Given the description of an element on the screen output the (x, y) to click on. 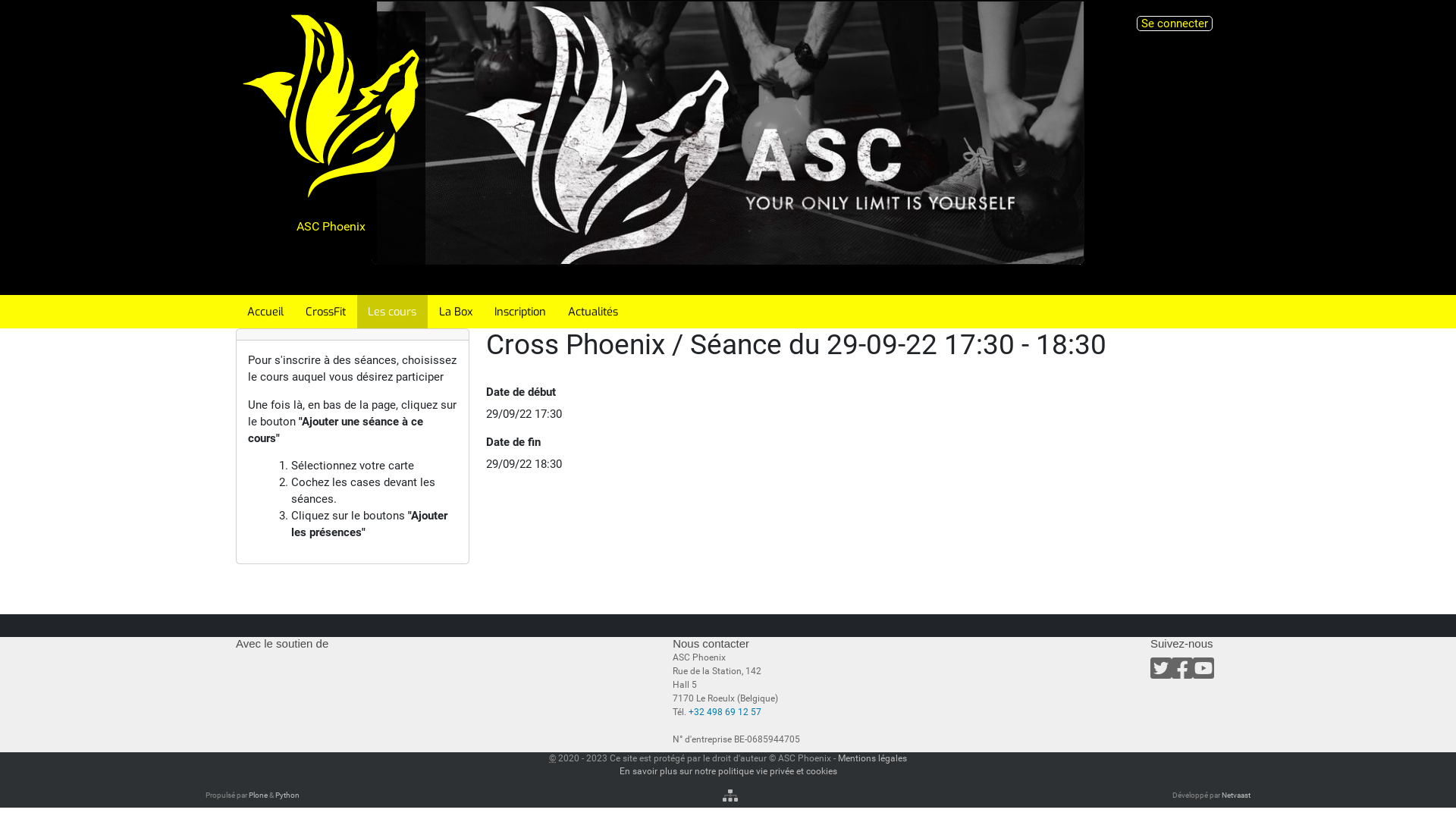
Les cours Element type: text (392, 311)
La Box Element type: text (455, 311)
CrossFit Element type: text (325, 311)
ASC Phoenix Element type: text (330, 147)
Inscription Element type: text (519, 311)
+32 498 69 12 57 Element type: text (724, 711)
Plone Element type: text (257, 795)
Se connecter Element type: text (1174, 23)
Accueil Element type: text (264, 311)
Python Element type: text (287, 795)
asc-phenix Element type: hover (330, 105)
Netvaast Element type: text (1235, 795)
